Given the description of an element on the screen output the (x, y) to click on. 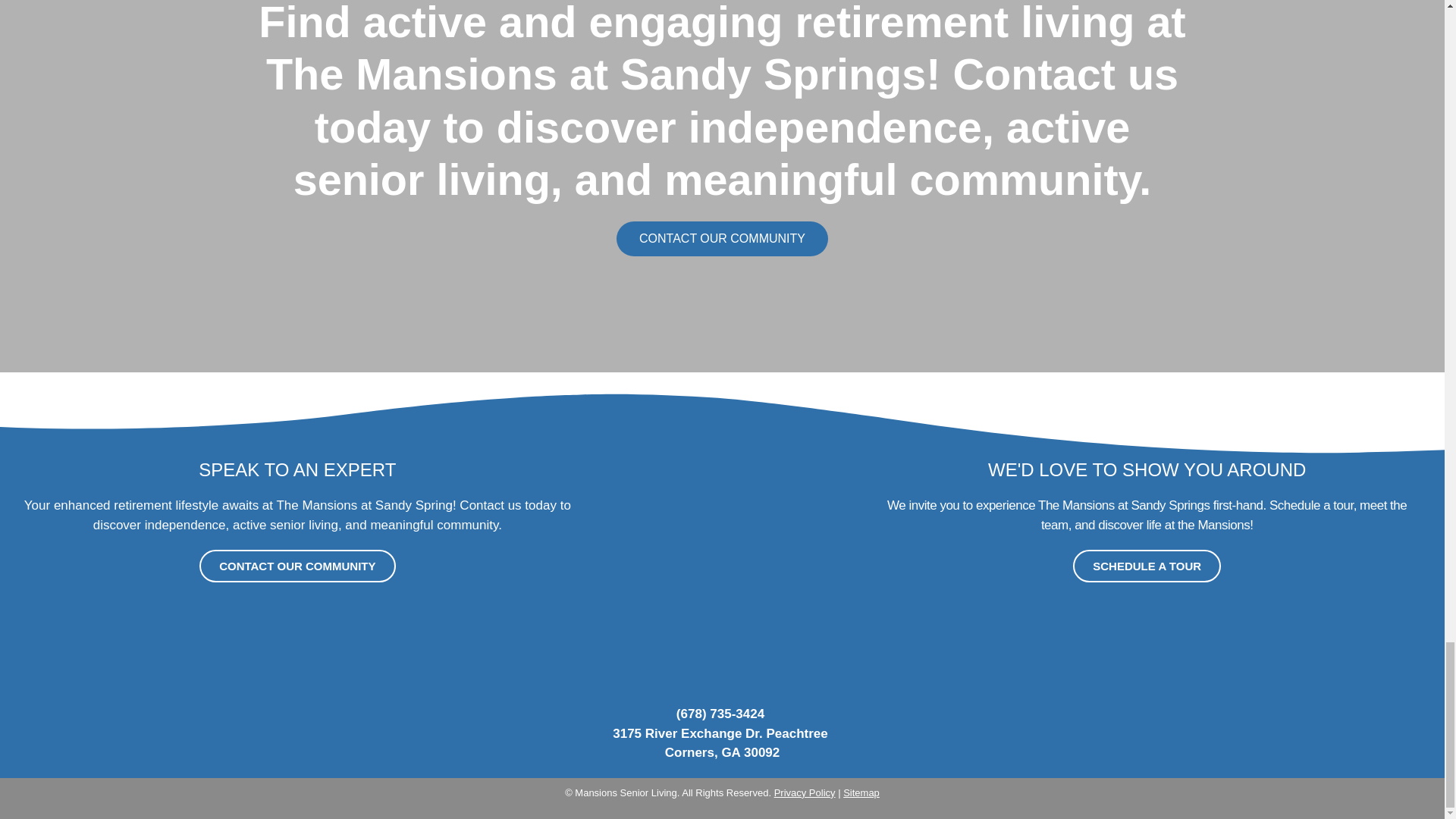
CONTACT OUR COMMUNITY (296, 565)
CONTACT OUR COMMUNITY (721, 238)
